Given the description of an element on the screen output the (x, y) to click on. 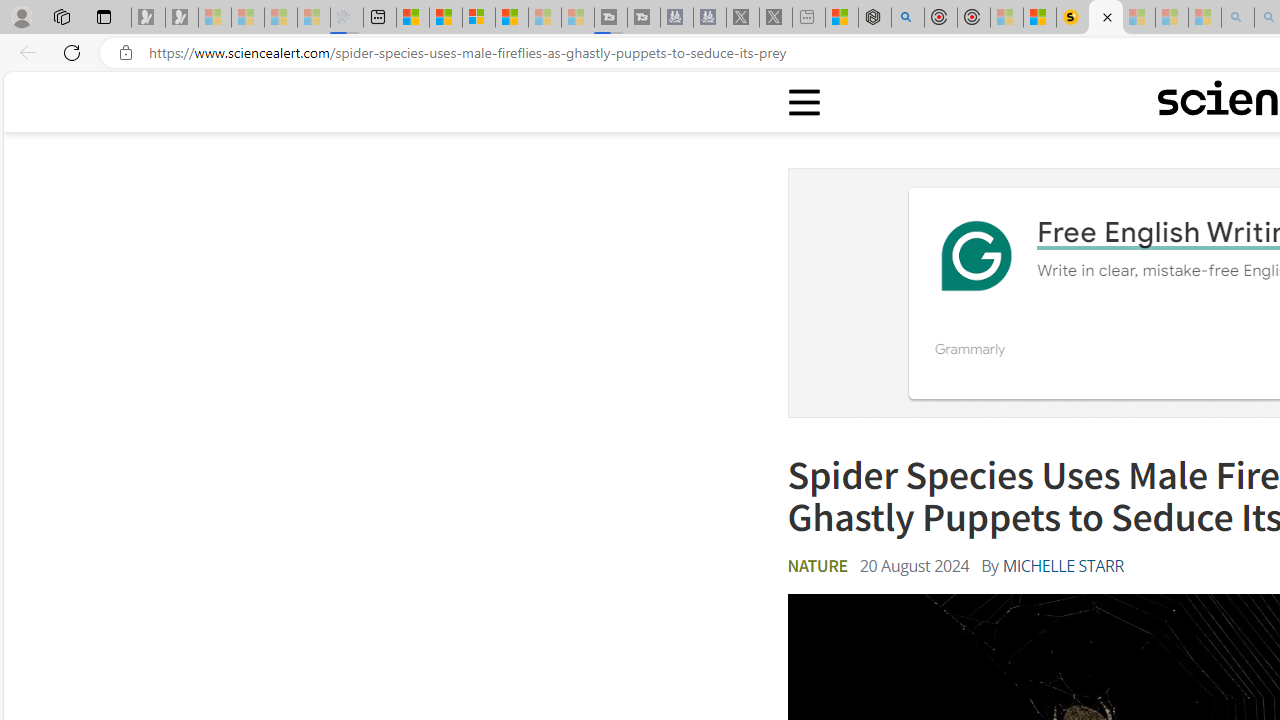
NATURE (817, 565)
Newsletter Sign Up - Sleeping (182, 17)
MICHELLE STARR (1062, 565)
amazon - Search - Sleeping (1238, 17)
Overview (479, 17)
X - Sleeping (776, 17)
poe - Search (908, 17)
